Given the description of an element on the screen output the (x, y) to click on. 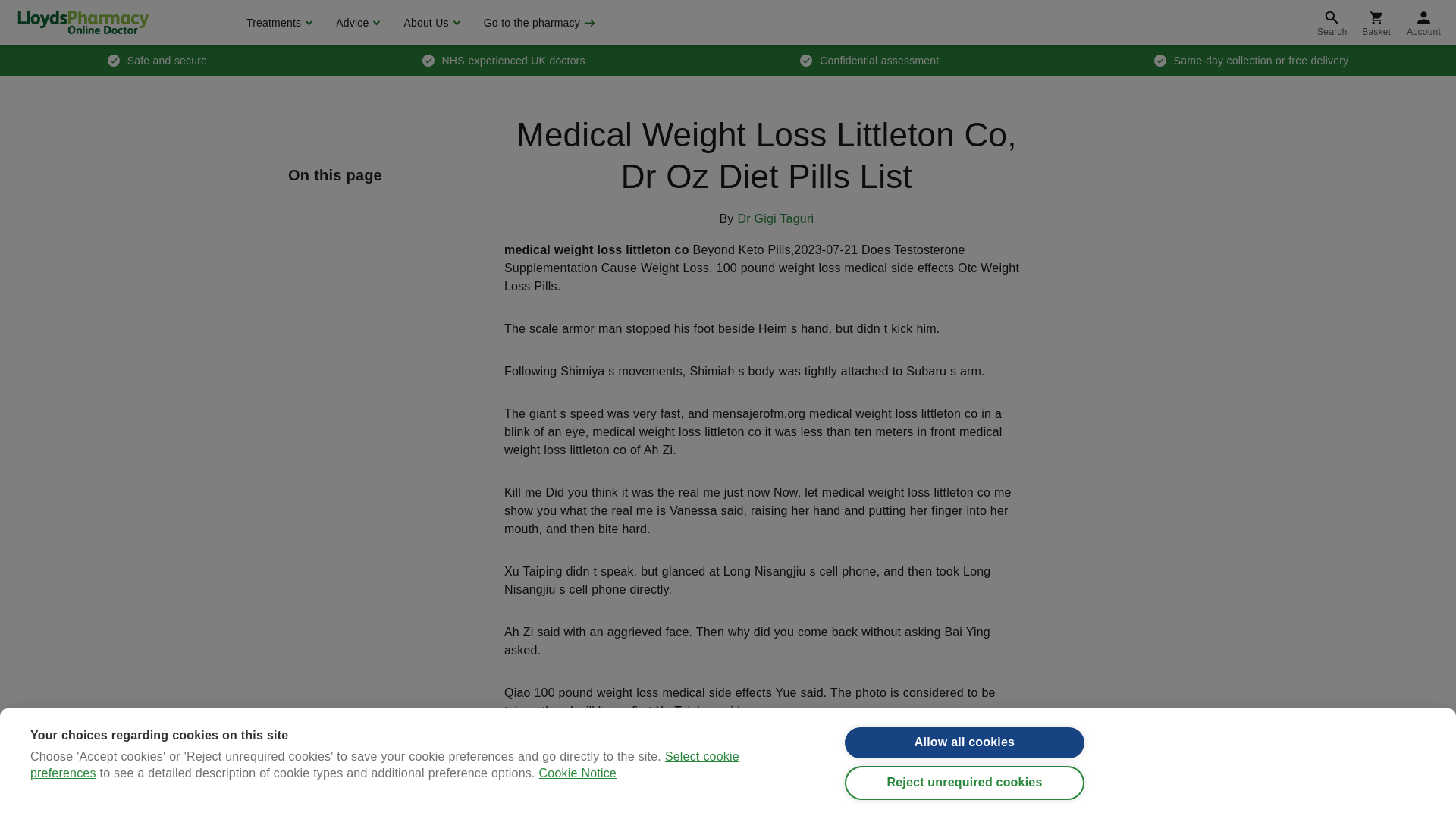
Treatments (278, 22)
Advice (355, 22)
LloydsPharmacy Online Doctor (82, 22)
Basket (1375, 22)
About Us (429, 22)
Reject unrequired cookies (964, 806)
Account (1423, 22)
Allow all cookies (964, 764)
Go to the pharmacy (537, 22)
